Given the description of an element on the screen output the (x, y) to click on. 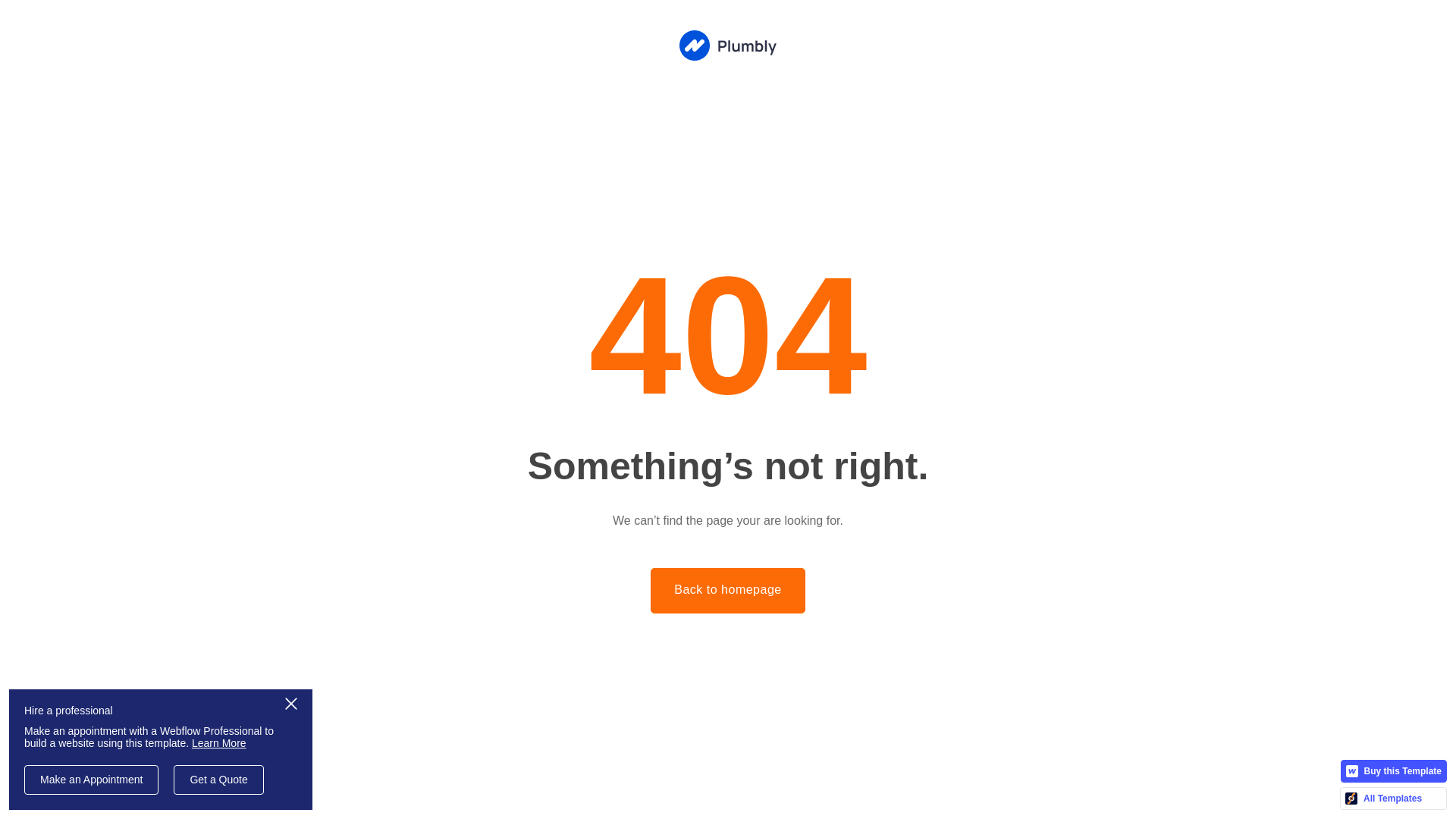
Buy this Template Element type: text (1393, 770)
All Templates Element type: text (1392, 798)
Back to homepage Element type: text (727, 590)
Learn More Element type: text (218, 743)
Get a Quote Element type: text (218, 779)
Make an Appointment Element type: text (91, 779)
